Given the description of an element on the screen output the (x, y) to click on. 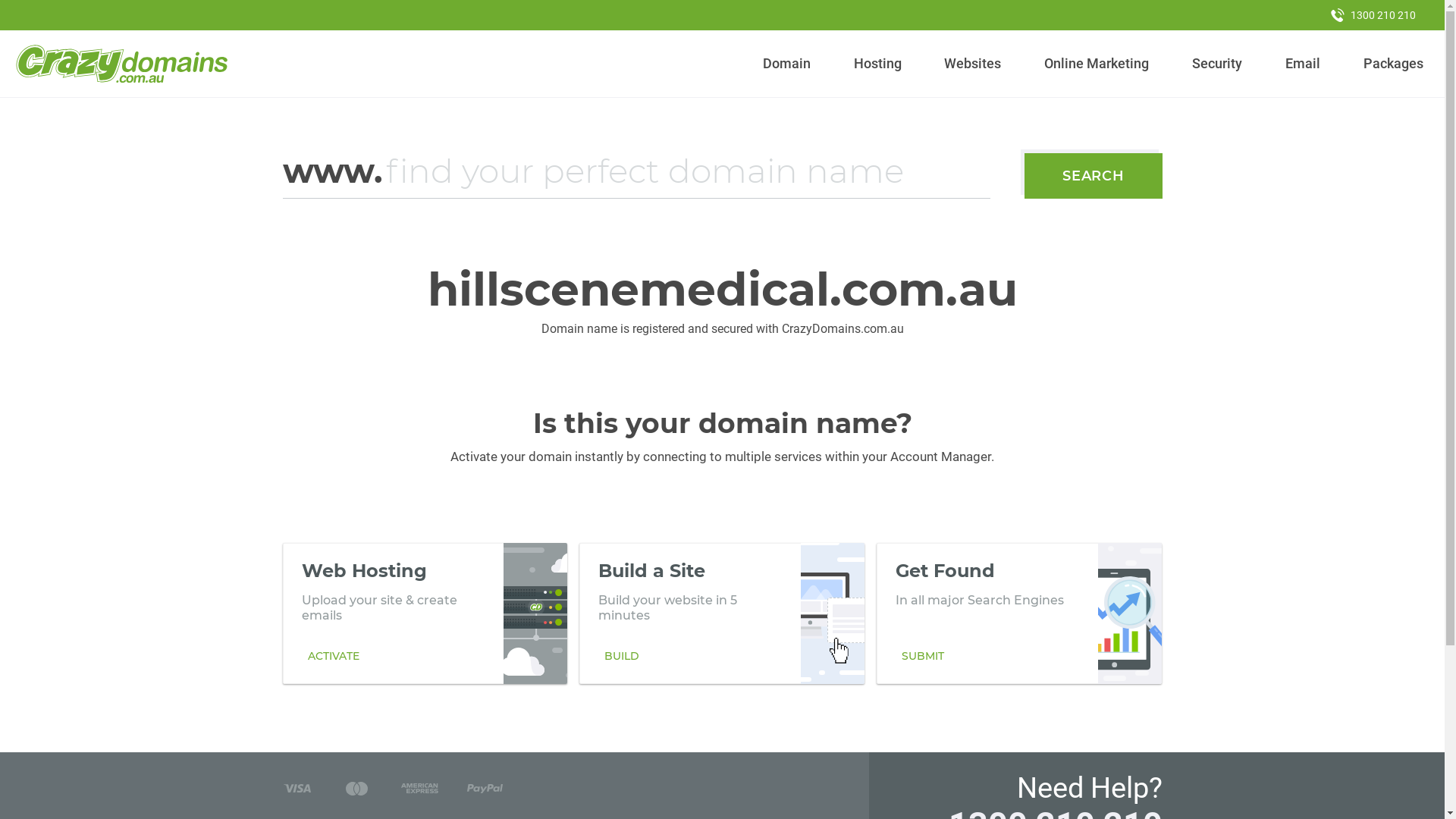
Online Marketing Element type: text (1096, 63)
Web Hosting
Upload your site & create emails
ACTIVATE Element type: text (424, 613)
Build a Site
Build your website in 5 minutes
BUILD Element type: text (721, 613)
SEARCH Element type: text (1092, 175)
Hosting Element type: text (877, 63)
1300 210 210 Element type: text (1373, 15)
Get Found
In all major Search Engines
SUBMIT Element type: text (1018, 613)
Packages Element type: text (1392, 63)
Security Element type: text (1217, 63)
Domain Element type: text (786, 63)
Websites Element type: text (972, 63)
Email Element type: text (1302, 63)
